Given the description of an element on the screen output the (x, y) to click on. 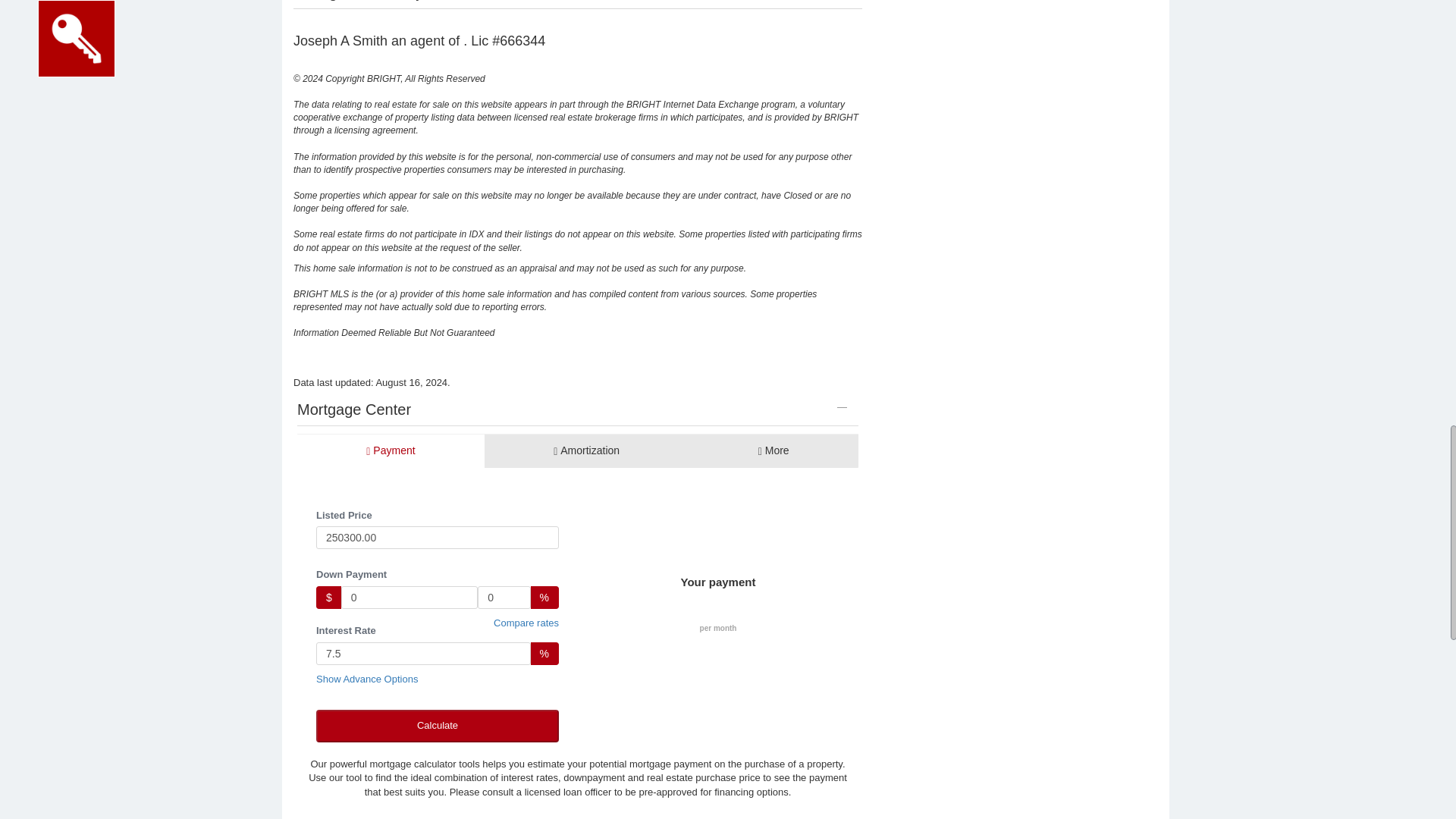
250300.00 (437, 537)
0 (503, 597)
7.5 (423, 653)
0 (409, 597)
